Given the description of an element on the screen output the (x, y) to click on. 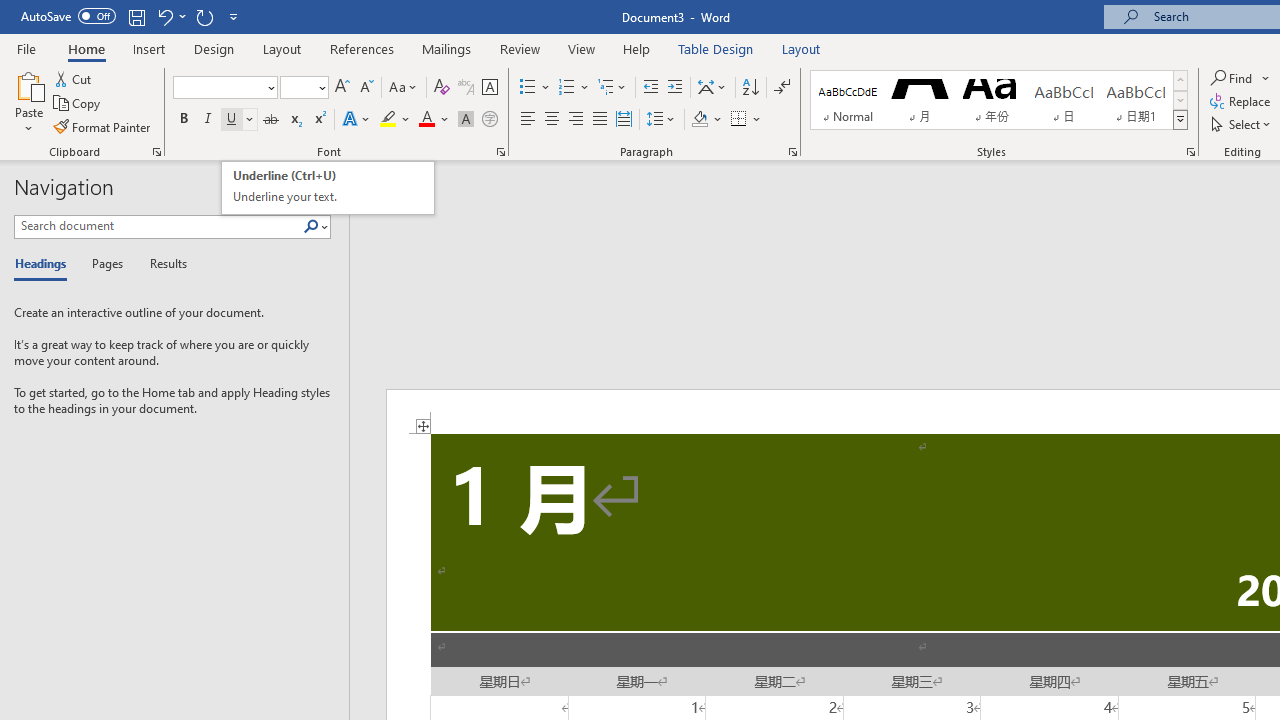
Multilevel List (613, 87)
Text Highlight Color (395, 119)
Font... (500, 151)
Table Design (715, 48)
Change Case (404, 87)
Center (552, 119)
Align Left (527, 119)
Styles (1179, 120)
